Given the description of an element on the screen output the (x, y) to click on. 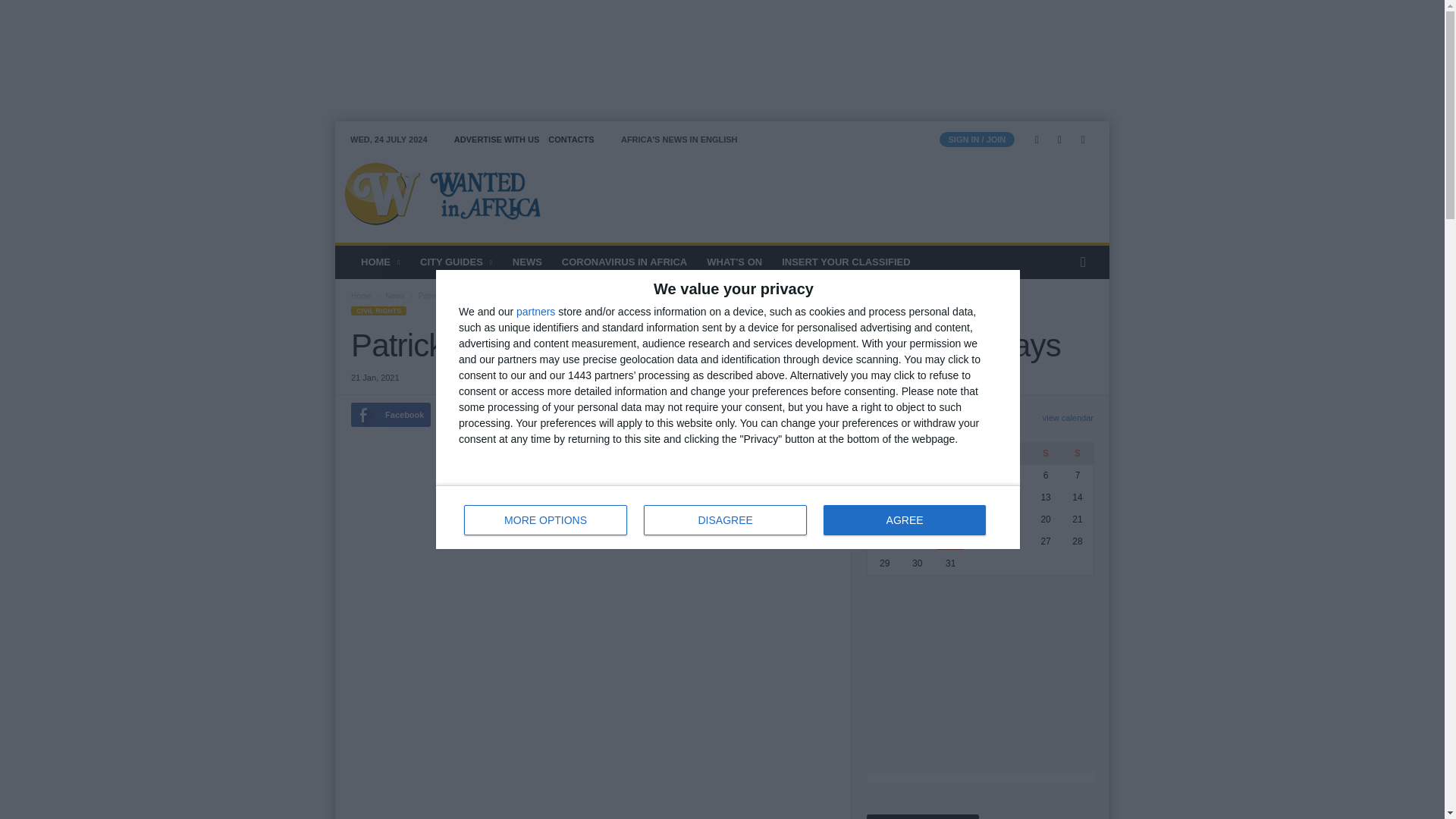
MORE OPTIONS (545, 520)
partners (535, 311)
DISAGREE (724, 520)
Wanted in Africa (437, 192)
ADVERTISE WITH US (496, 139)
AGREE (904, 520)
CONTACTS (571, 139)
